Given the description of an element on the screen output the (x, y) to click on. 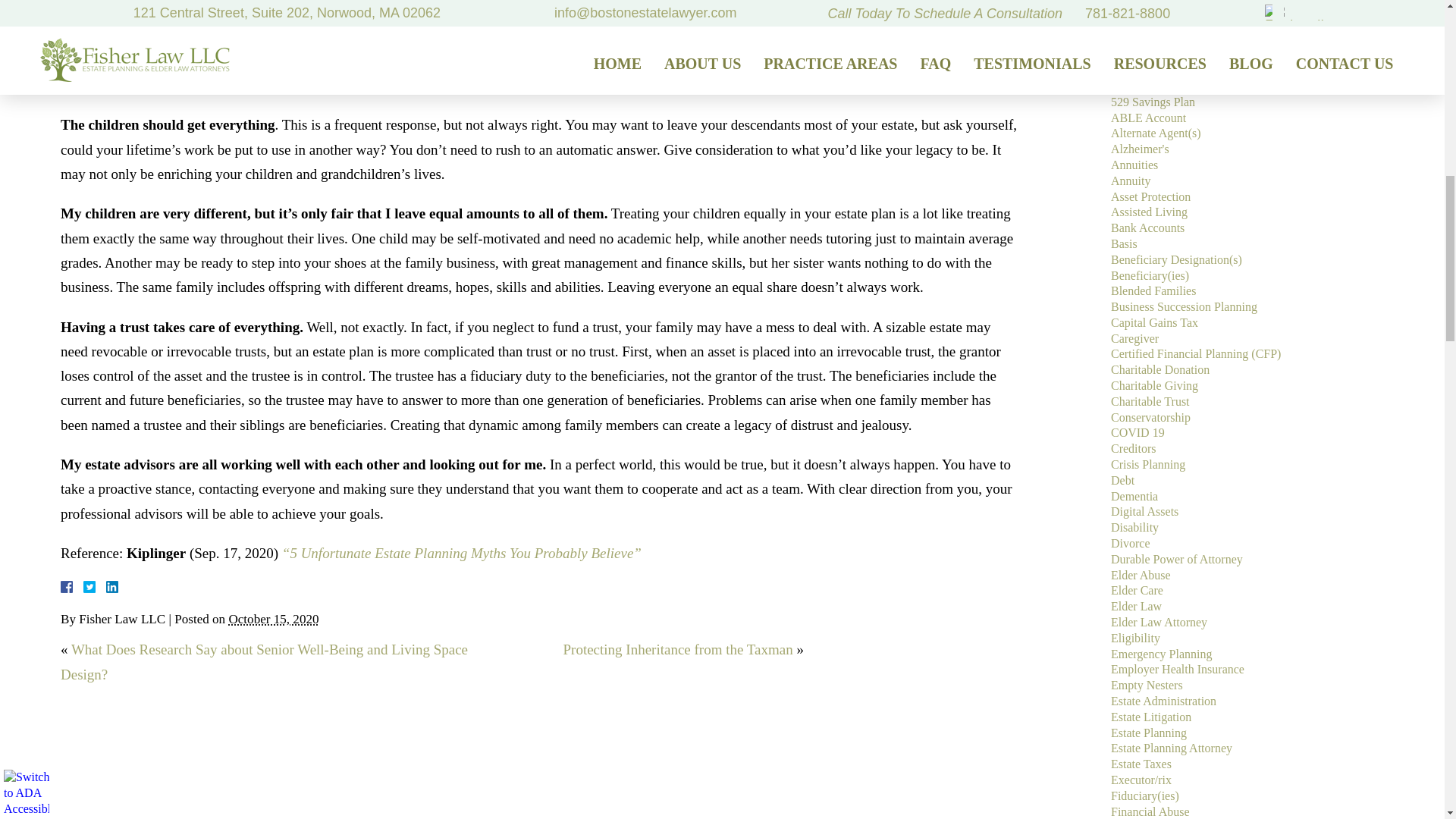
Facebook (85, 586)
Twitter (95, 586)
LinkedIn (106, 586)
2020-10-15T09:00:00-0700 (273, 618)
